Given the description of an element on the screen output the (x, y) to click on. 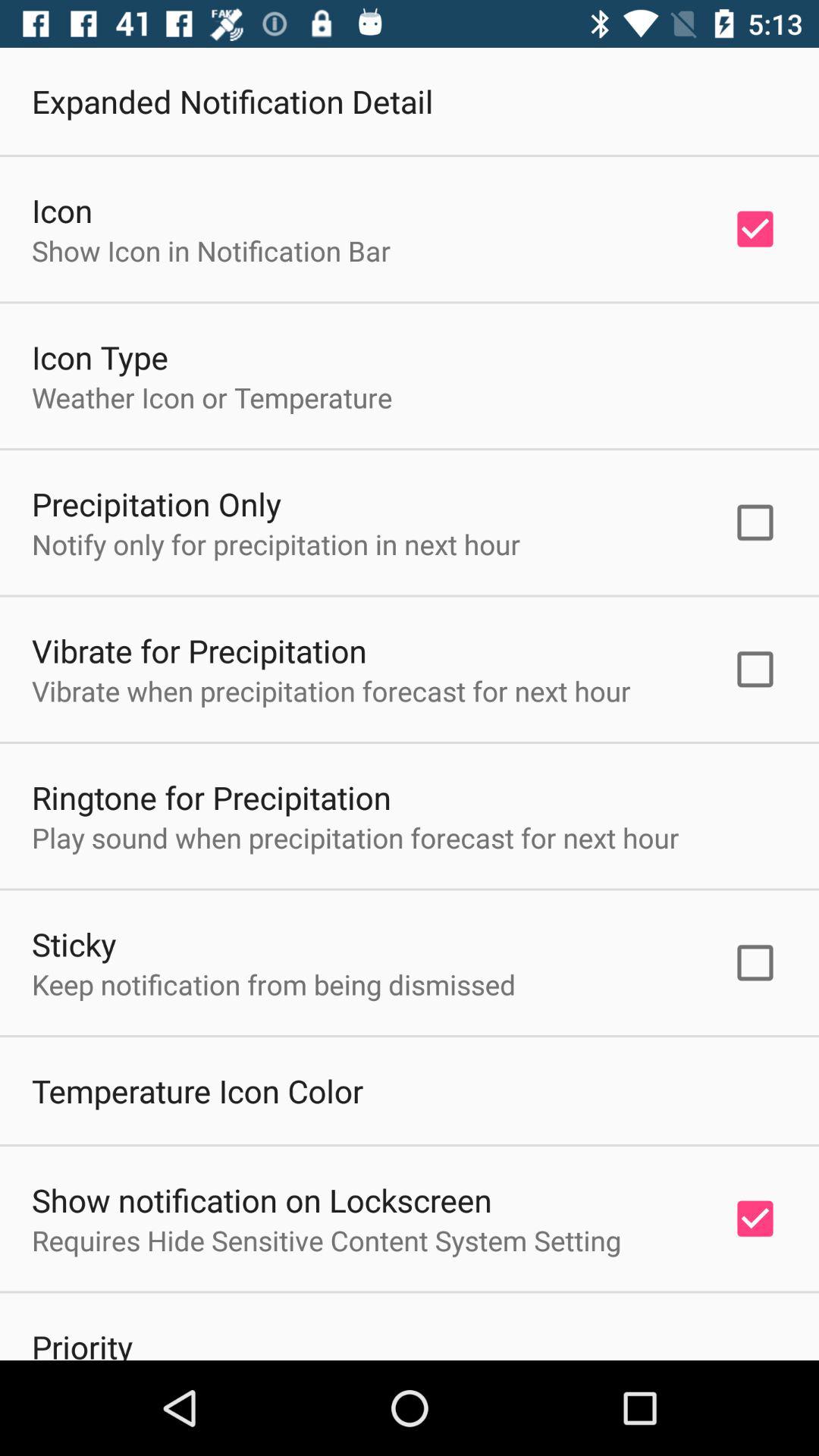
flip to the requires hide sensitive (326, 1240)
